Given the description of an element on the screen output the (x, y) to click on. 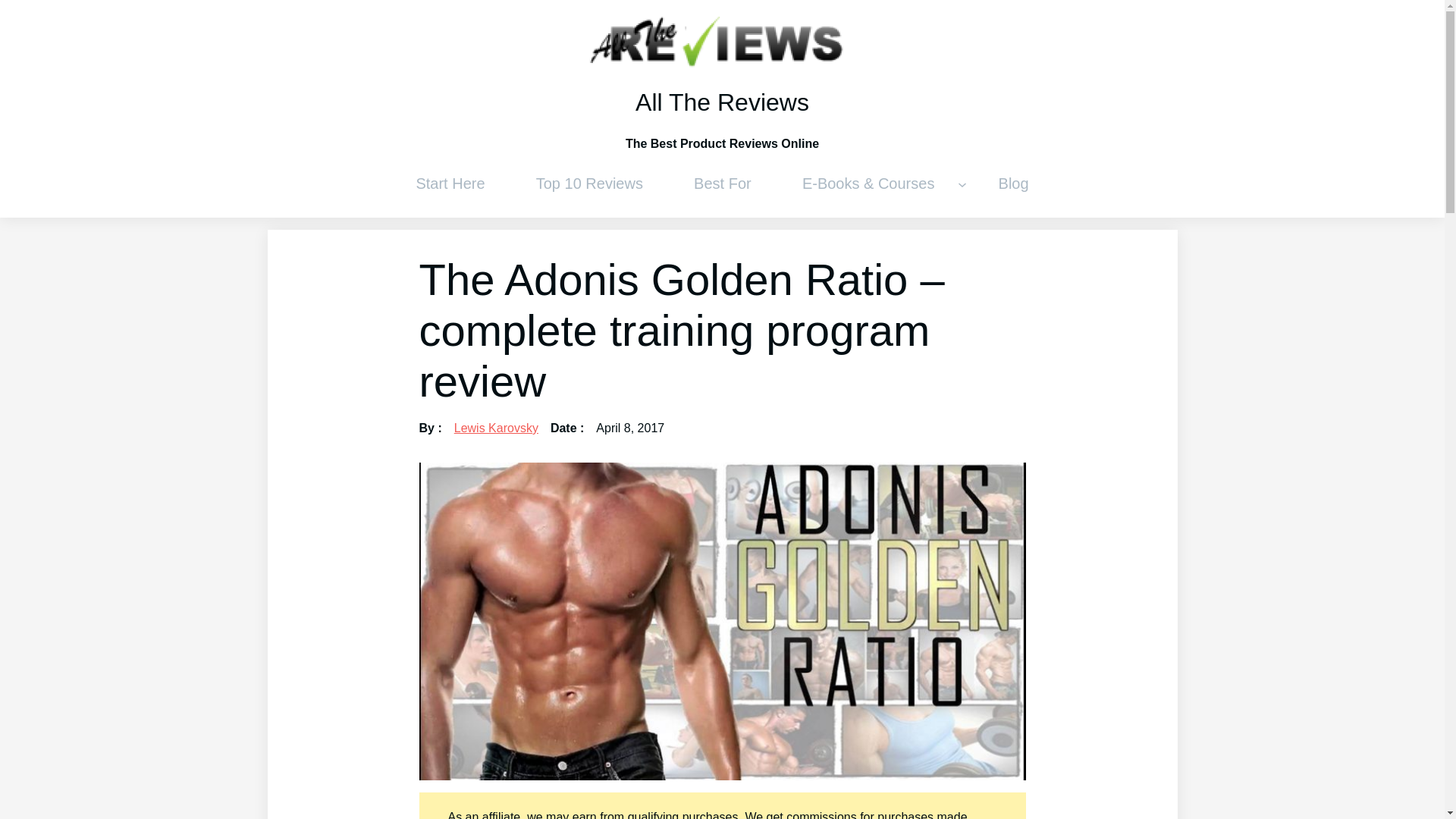
Best For (723, 183)
Top 10 Reviews (589, 183)
Lewis Karovsky (496, 427)
Blog (1013, 183)
All The Reviews (721, 102)
Start Here (449, 183)
